Given the description of an element on the screen output the (x, y) to click on. 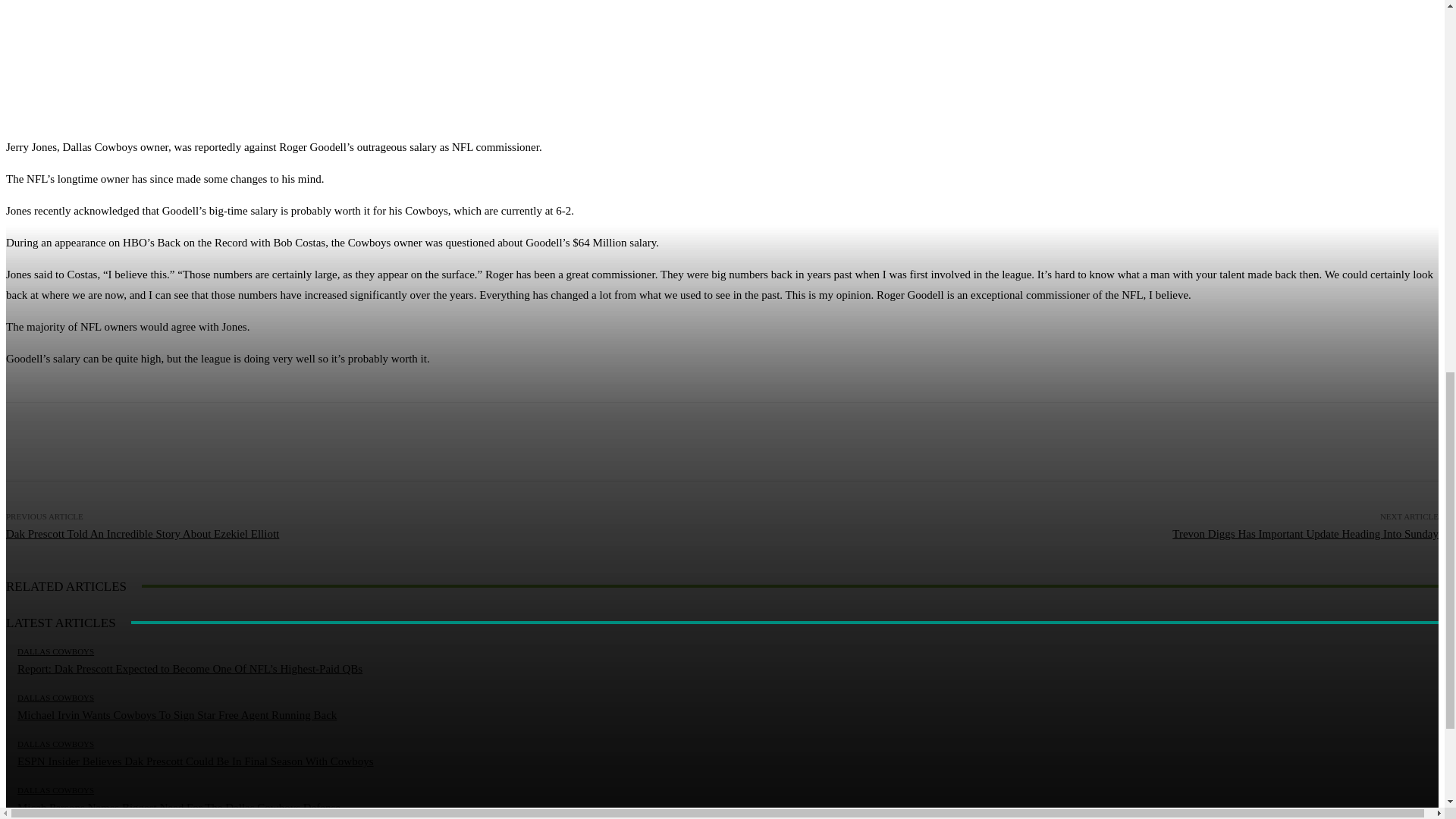
Dak Prescott Told An Incredible Story About Ezekiel Elliott (142, 533)
Trevon Diggs Has Important Update Heading Into Sunday (1305, 533)
